Given the description of an element on the screen output the (x, y) to click on. 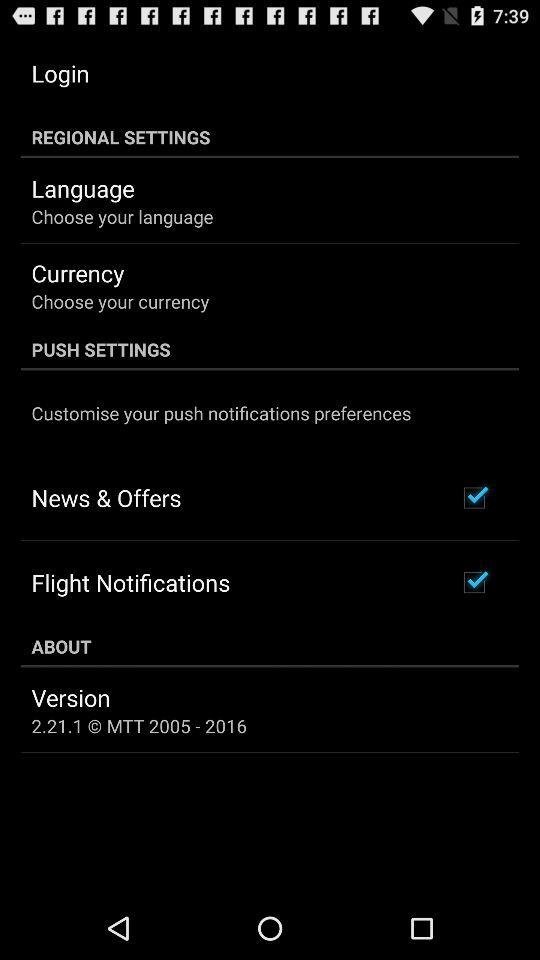
open item above regional settings icon (60, 73)
